Given the description of an element on the screen output the (x, y) to click on. 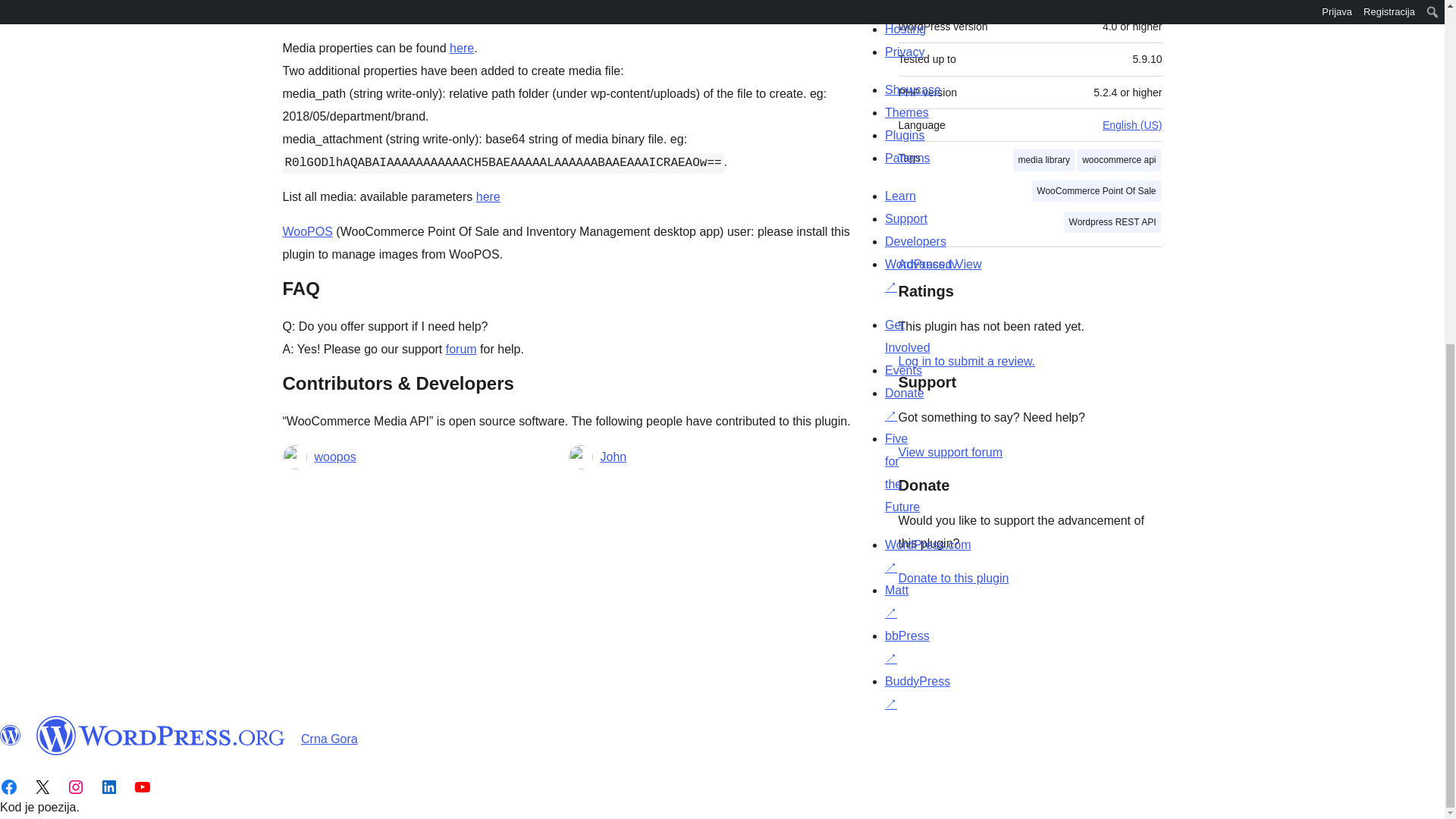
Log in to WordPress.org (966, 360)
WordPress.org (160, 735)
here (461, 47)
WordPress.org (10, 735)
here (488, 196)
WooPOS (306, 231)
woopos (334, 456)
forum (461, 349)
